Given the description of an element on the screen output the (x, y) to click on. 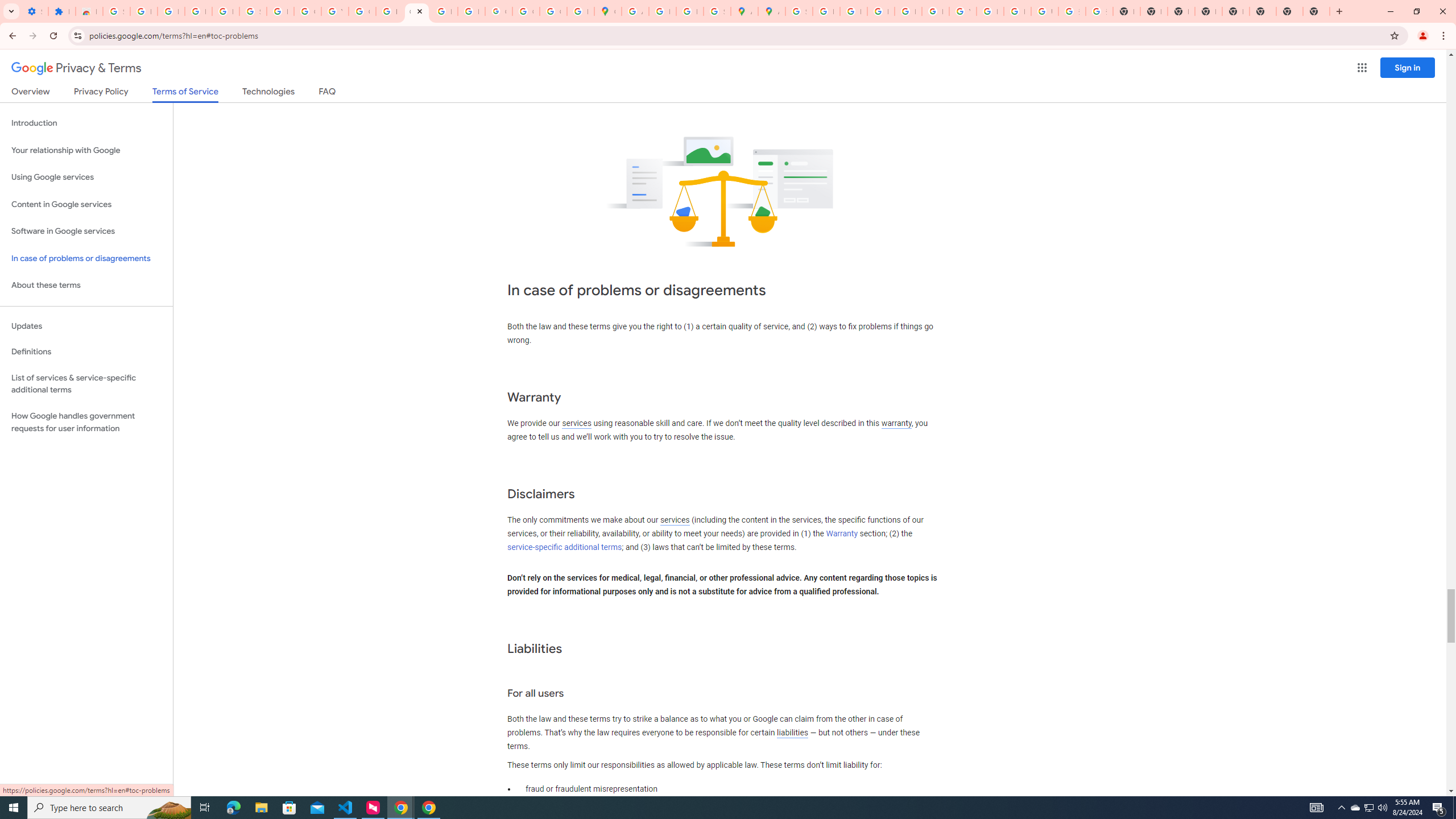
Google Account (307, 11)
https://scholar.google.com/ (389, 11)
Settings - On startup (34, 11)
New Tab (1289, 11)
